Given the description of an element on the screen output the (x, y) to click on. 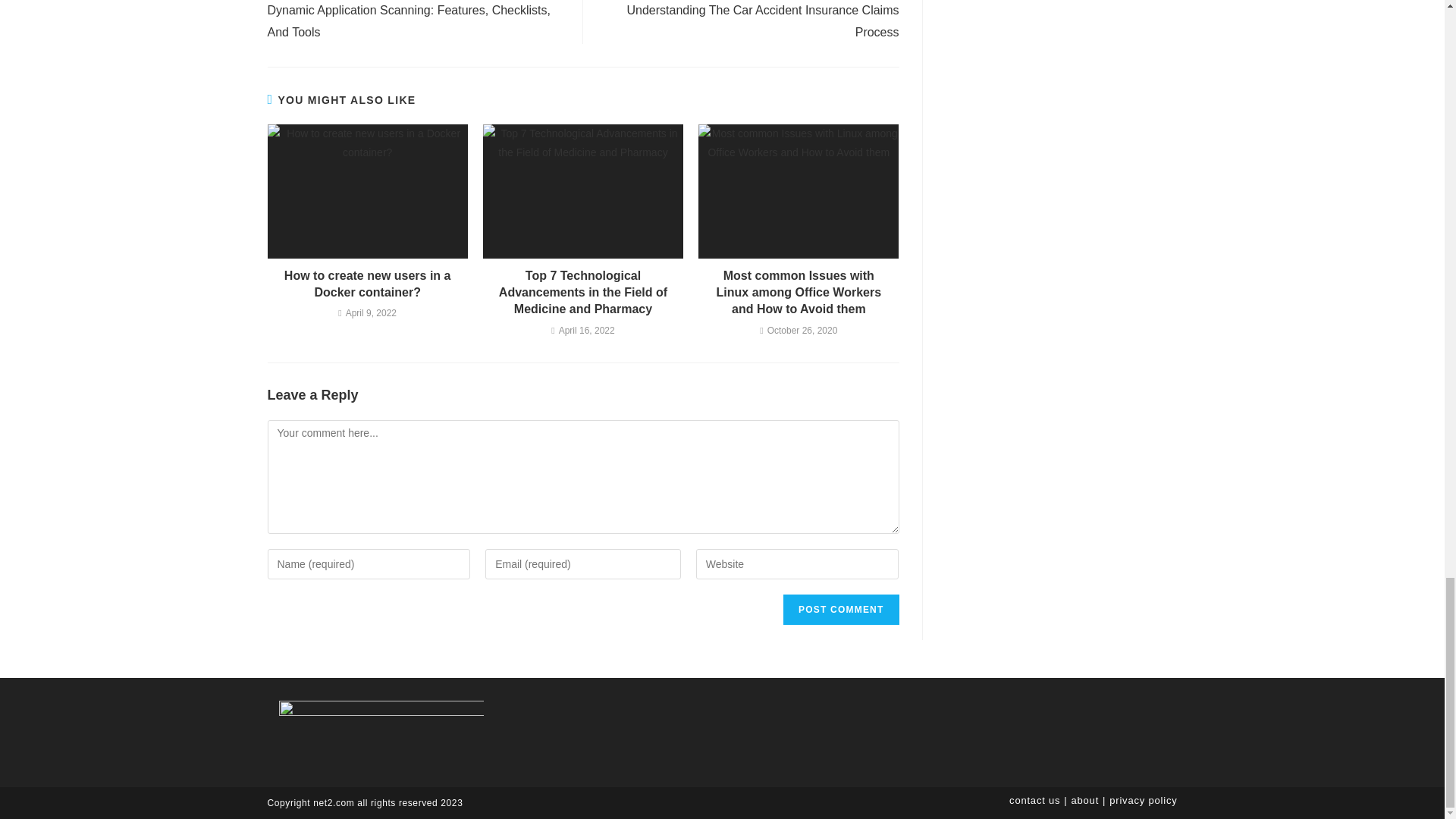
How to create new users in a Docker container? (367, 284)
How to create new users in a Docker container? (367, 284)
Post Comment (840, 609)
